Given the description of an element on the screen output the (x, y) to click on. 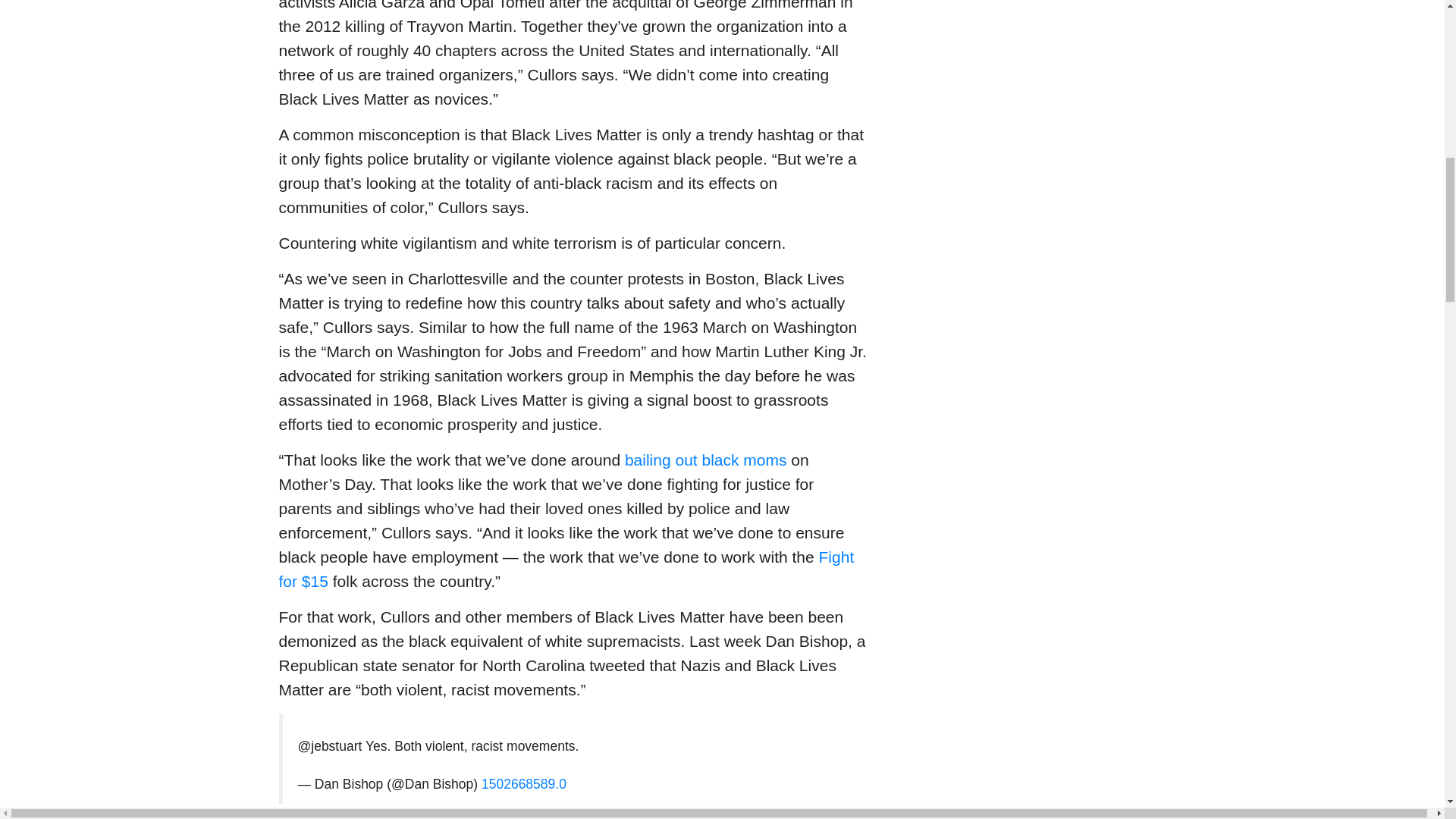
bailing out black moms (705, 459)
1502668589.0 (523, 783)
